Given the description of an element on the screen output the (x, y) to click on. 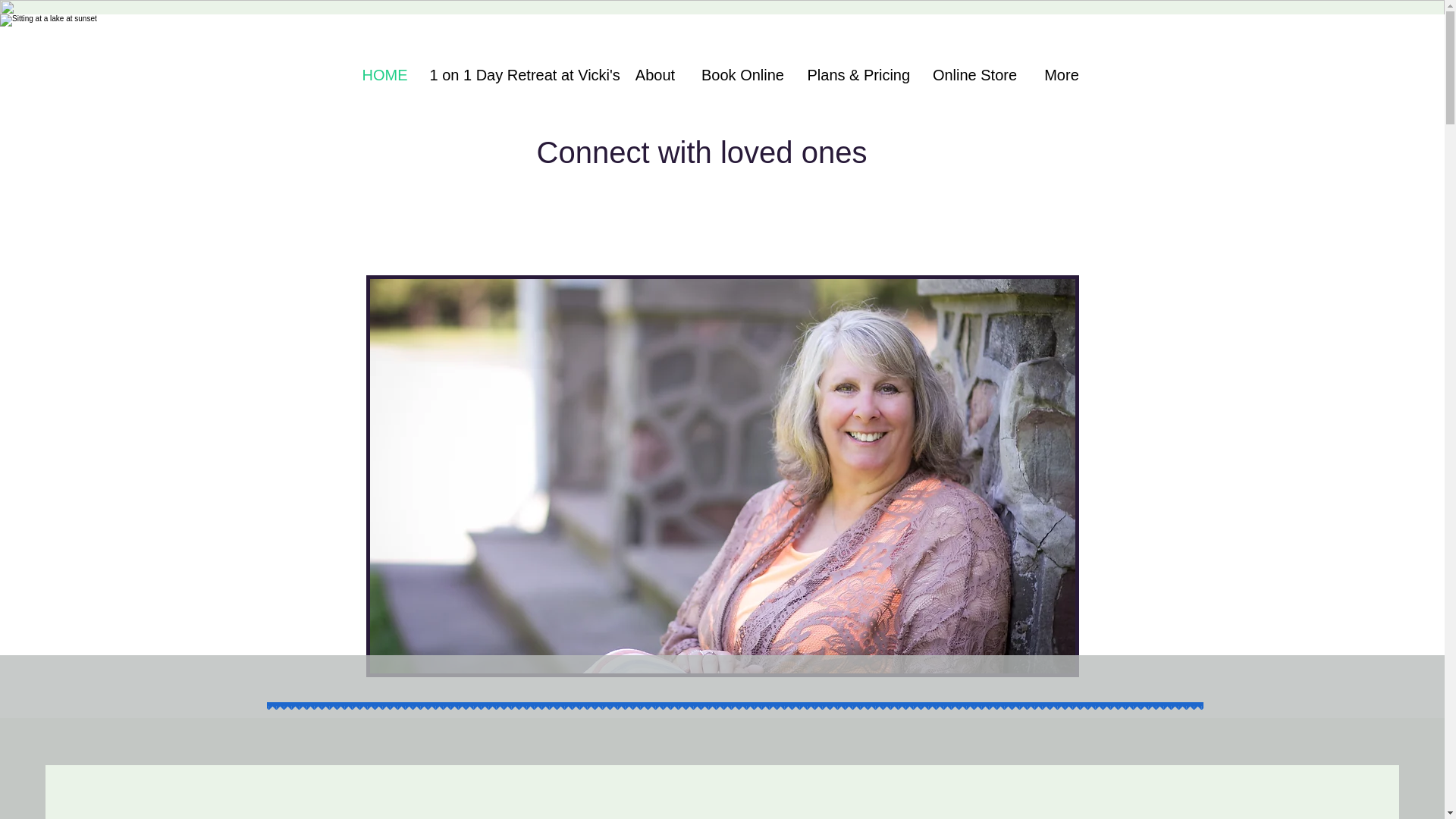
Book Online (743, 74)
1 on 1 Day Retreat at Vicki's (520, 74)
Online Store (973, 74)
About (654, 74)
HOME (383, 74)
